Given the description of an element on the screen output the (x, y) to click on. 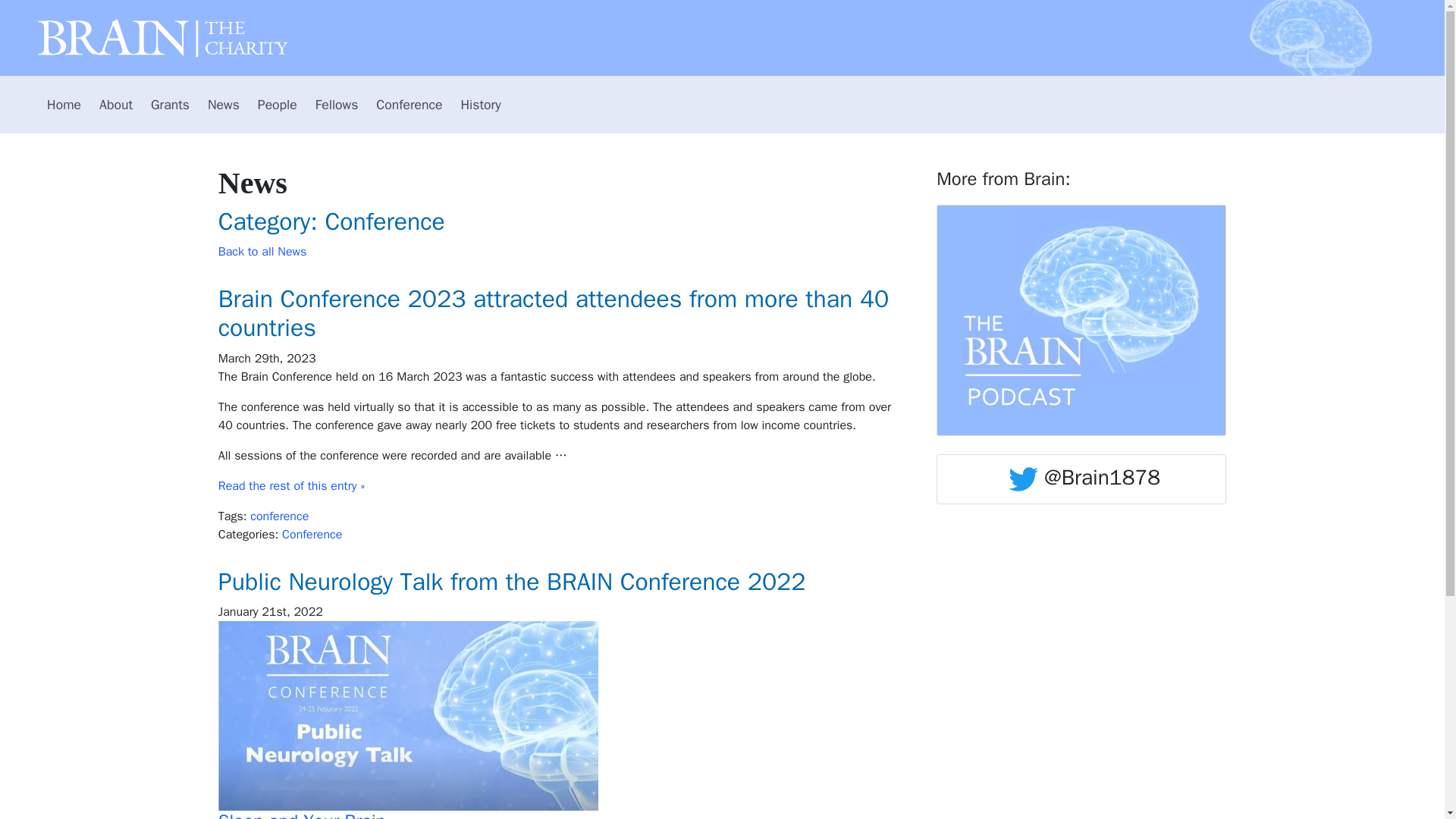
Public Neurology Talk from the BRAIN Conference 2022 (554, 582)
Fellows (336, 104)
Back to all News (262, 251)
About (115, 104)
Home (63, 104)
Sleep and Your Brain (301, 814)
Search (1396, 110)
Grants (169, 104)
conference (279, 516)
News (223, 104)
Conference (312, 534)
History (480, 104)
People (276, 104)
Conference (408, 104)
